Given the description of an element on the screen output the (x, y) to click on. 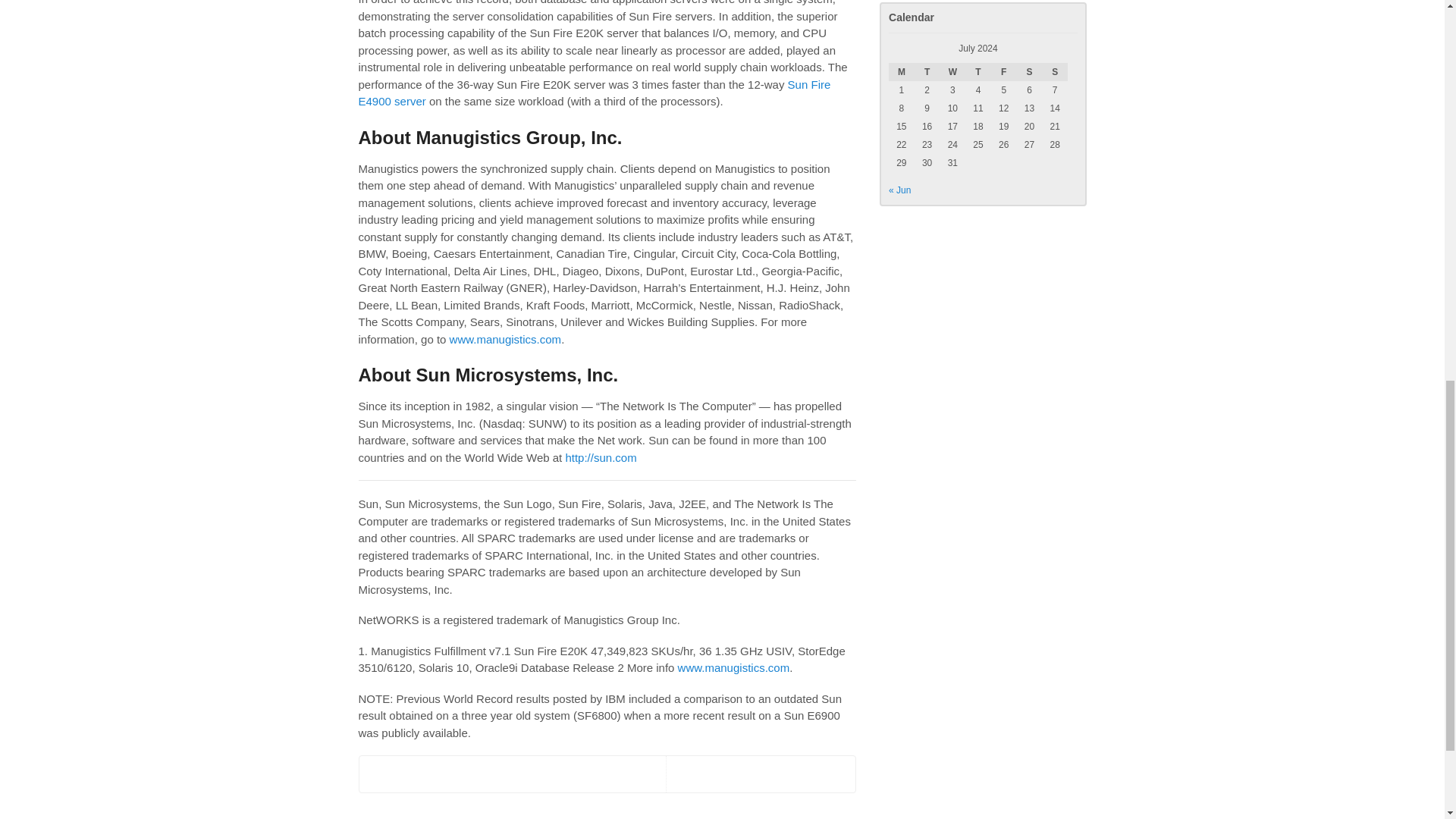
Saturday (1029, 72)
Wednesday (952, 72)
Tuesday (927, 72)
Sunday (1054, 72)
Thursday (978, 72)
Friday (1003, 72)
Monday (901, 72)
